Given the description of an element on the screen output the (x, y) to click on. 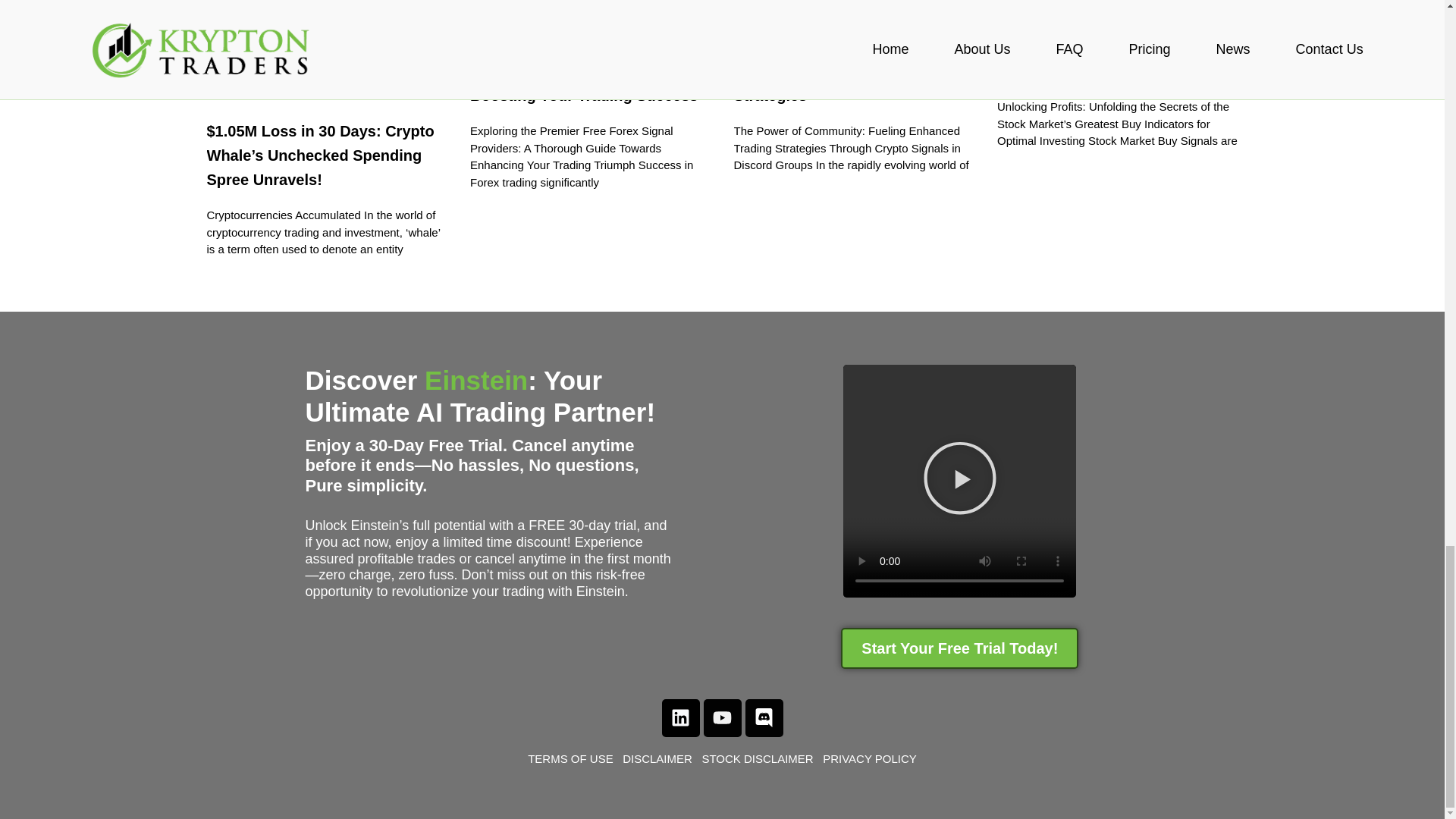
Start Your Free Trial Today! (959, 648)
